Given the description of an element on the screen output the (x, y) to click on. 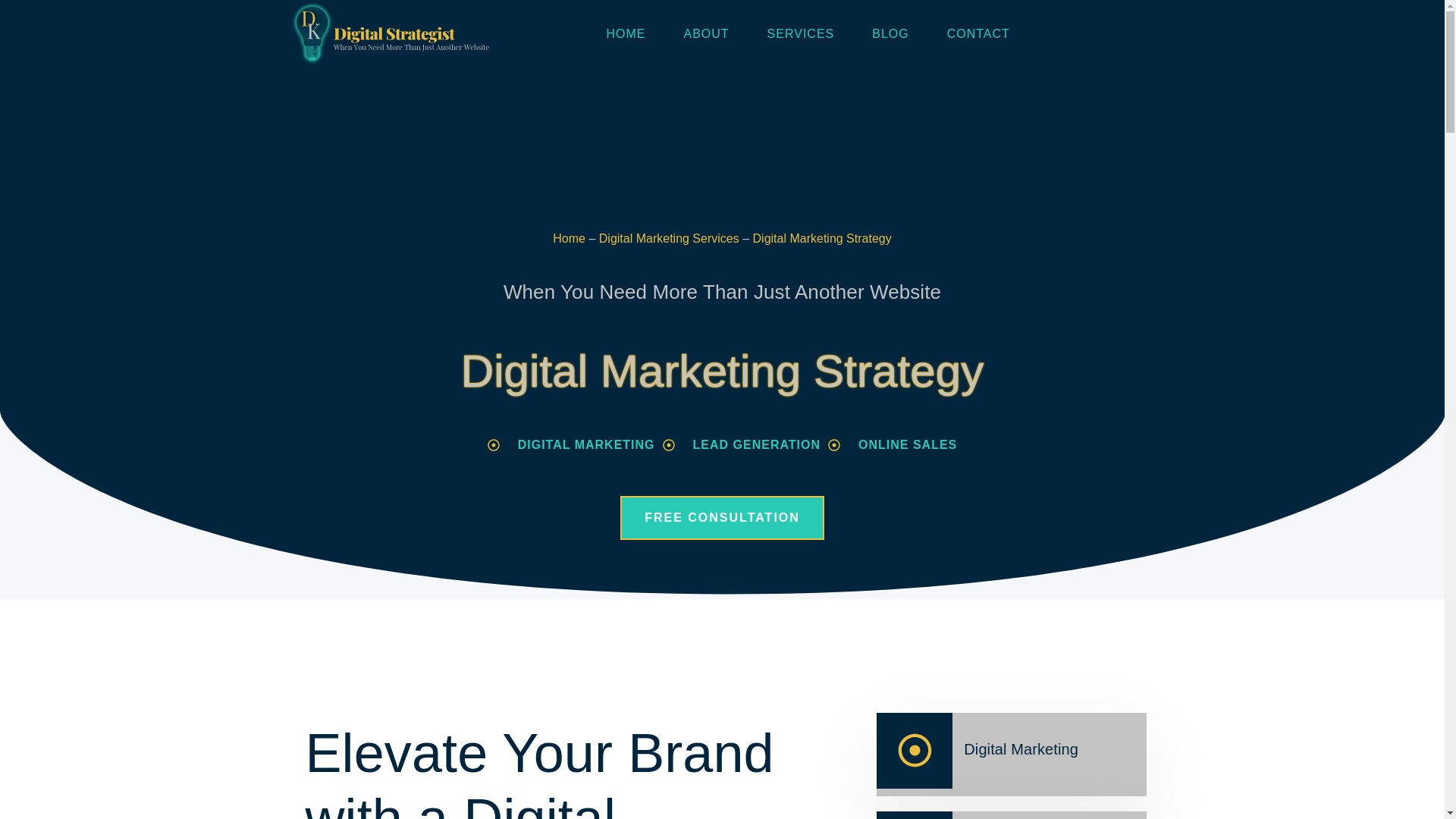
HOME (625, 34)
ABOUT (705, 34)
Home (569, 237)
BLOG (890, 34)
CONTACT (978, 34)
SERVICES (800, 34)
